Given the description of an element on the screen output the (x, y) to click on. 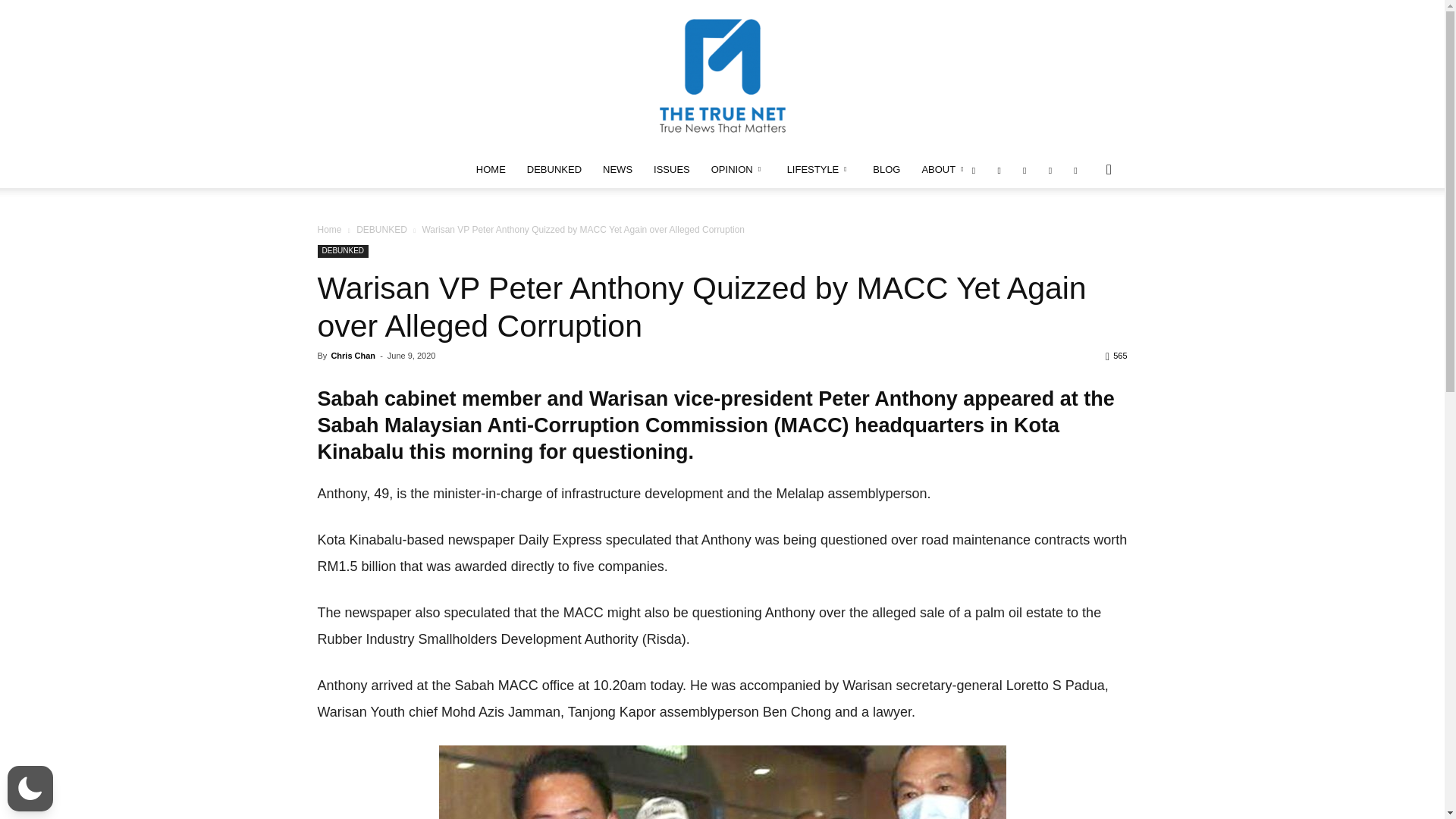
ISSUES (671, 169)
Facebook (973, 169)
Instagram (999, 169)
True News That Matters (721, 75)
Youtube (1075, 169)
HOME (490, 169)
OPINION (738, 169)
Twitter (1050, 169)
View all posts in DEBUNKED (381, 229)
NEWS (617, 169)
RSS (1024, 169)
DEBUNKED (554, 169)
